Given the description of an element on the screen output the (x, y) to click on. 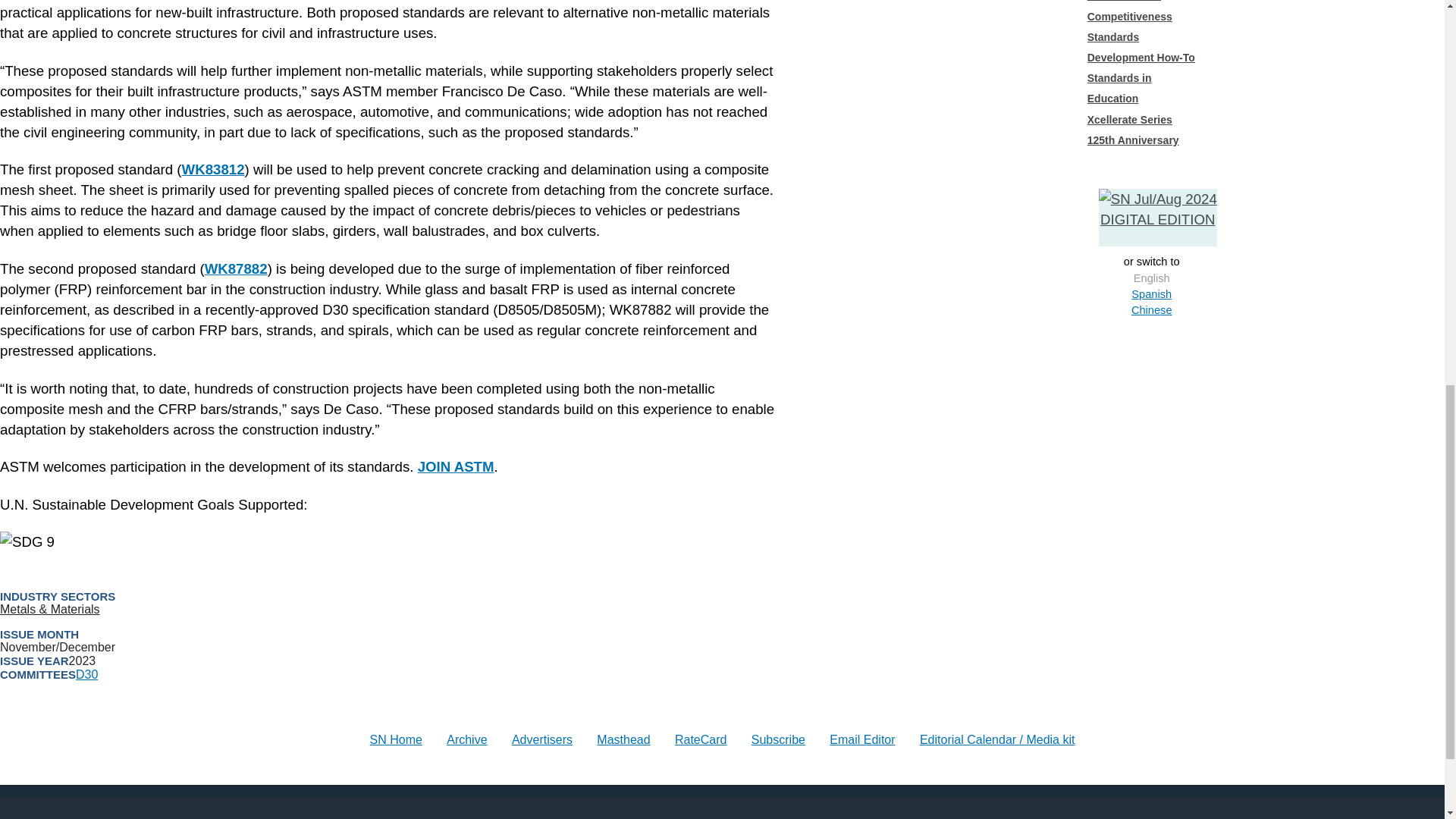
Xcellerate Series (1129, 119)
Editorial Calendar and Media Kit (997, 739)
D30 (86, 674)
Standards and Competitiveness (1129, 11)
Standards Development How-To (1141, 47)
Standards in Education (1119, 88)
WK87882 (236, 268)
JOIN ASTM (456, 466)
WK83812 (213, 169)
Editorial Calendar (395, 739)
